Given the description of an element on the screen output the (x, y) to click on. 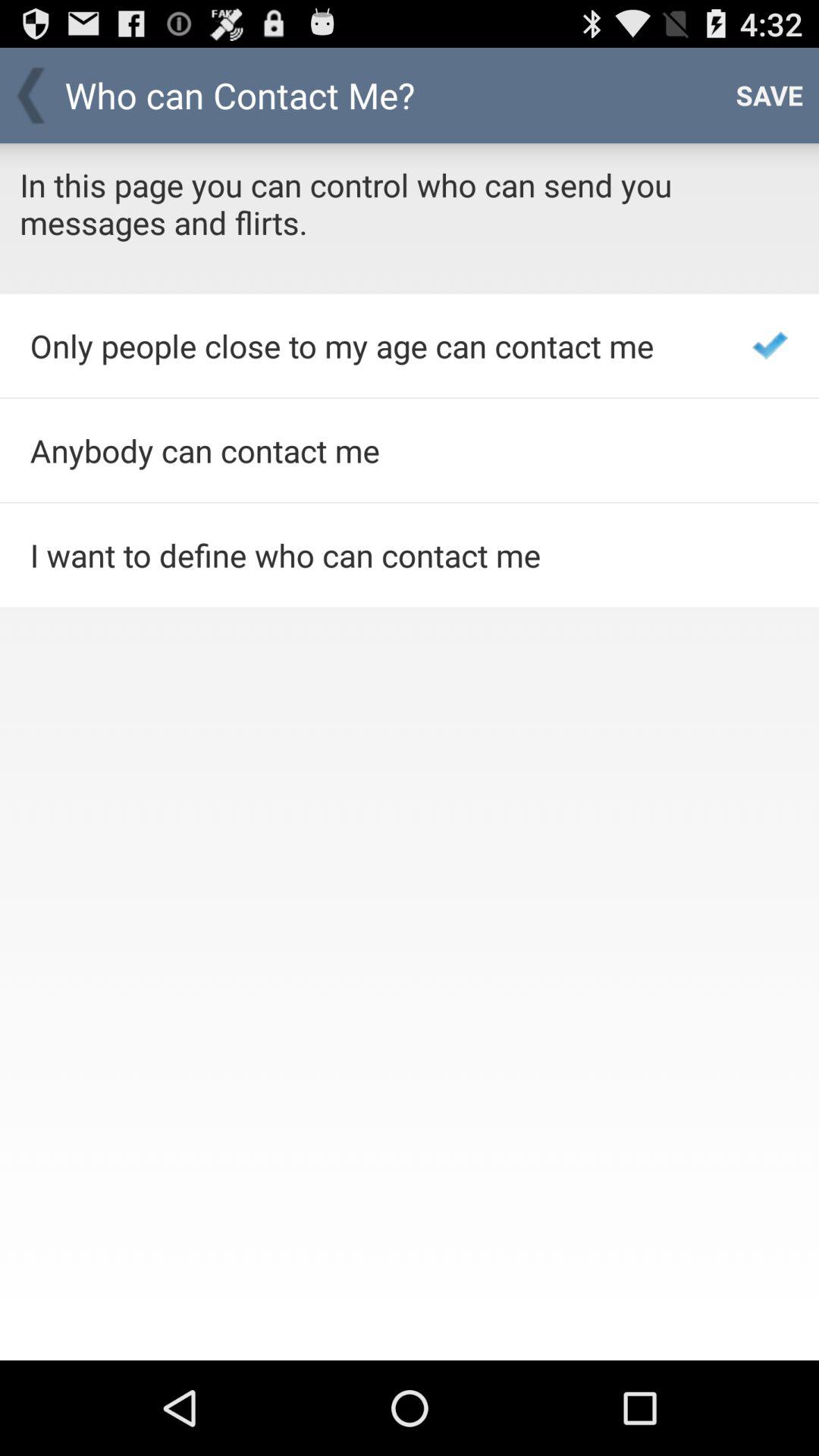
tap the save icon (769, 95)
